Given the description of an element on the screen output the (x, y) to click on. 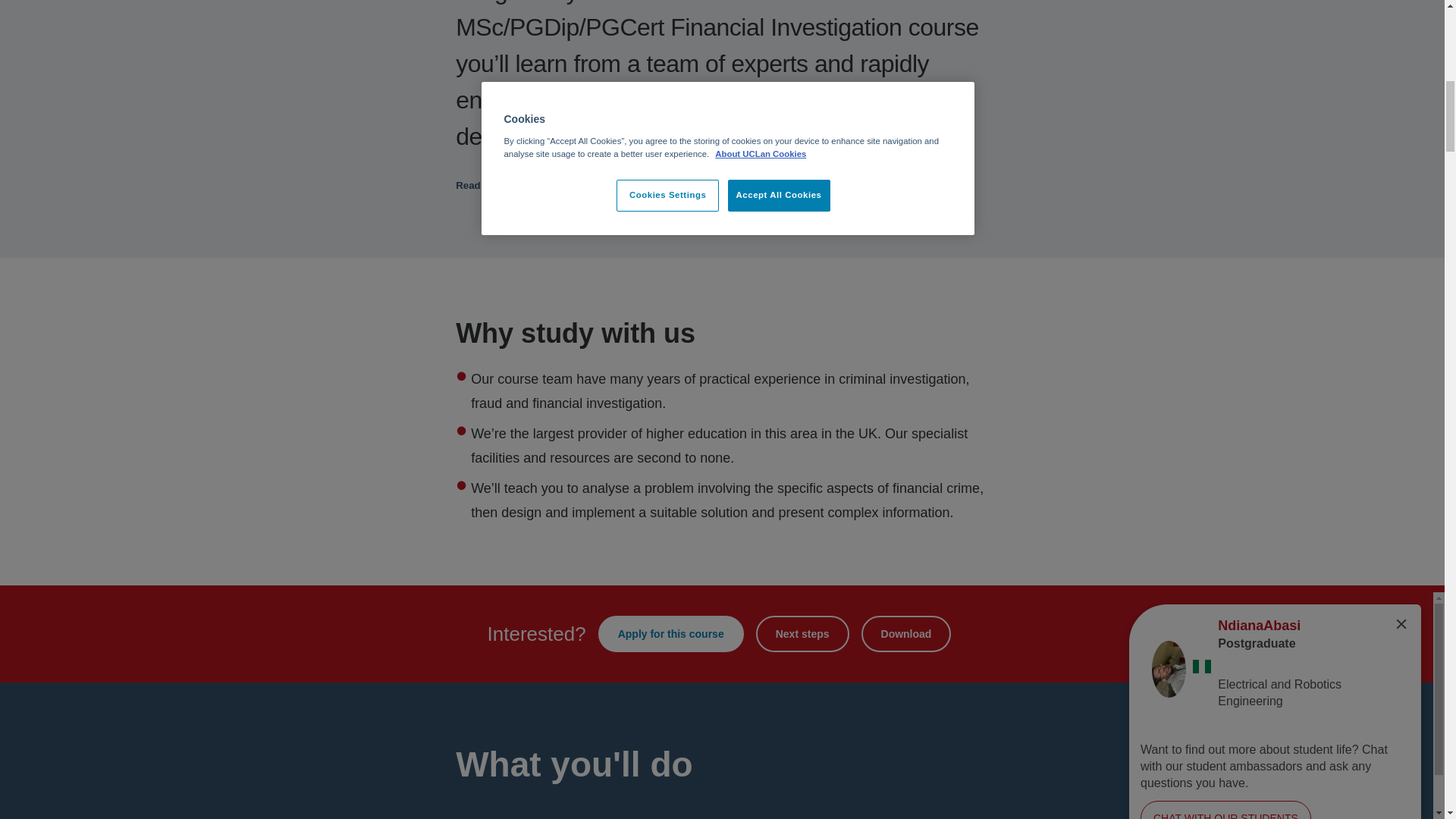
Financial Investigation, MSc as PDF (906, 633)
